Given the description of an element on the screen output the (x, y) to click on. 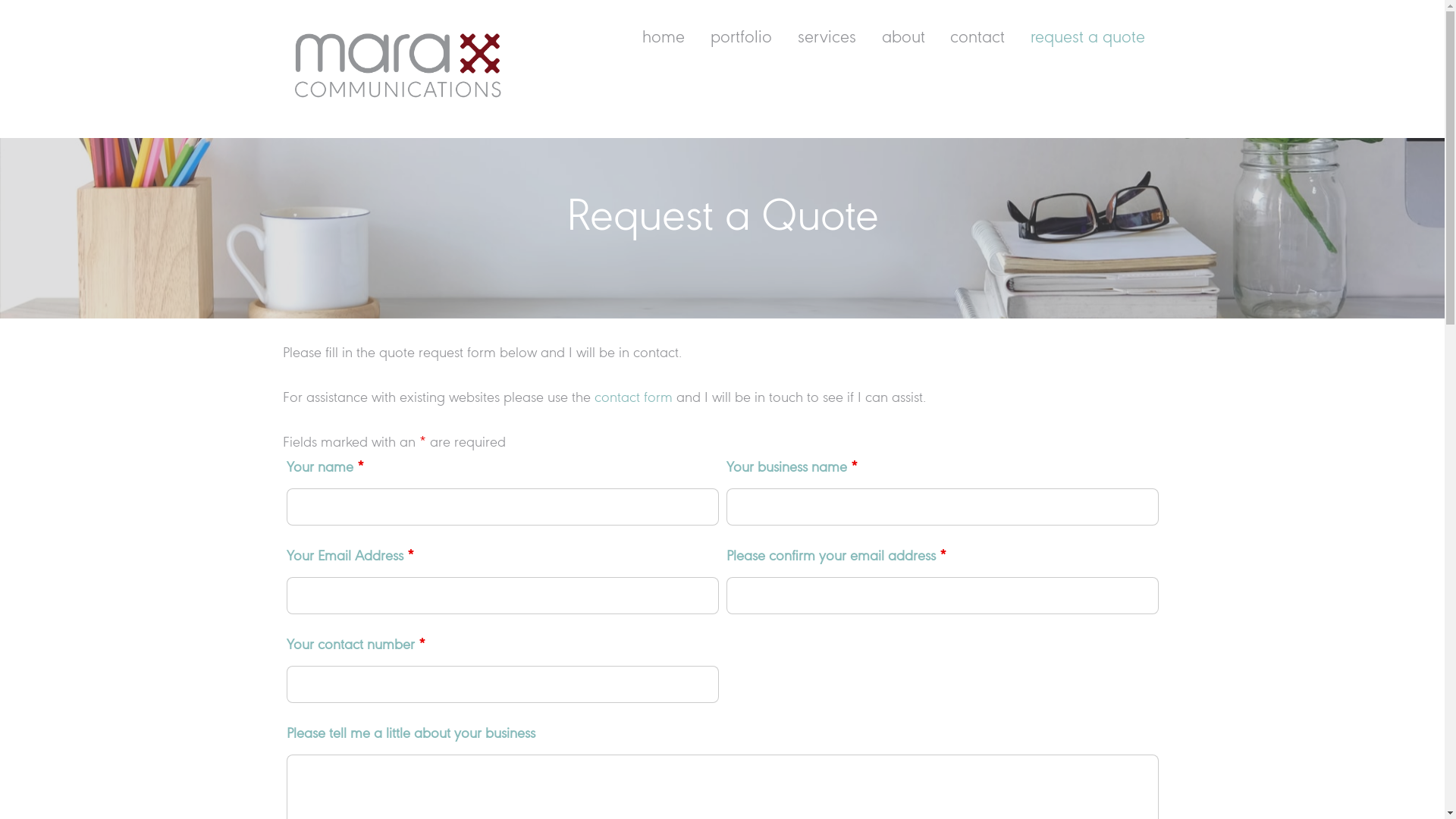
contact Element type: text (977, 38)
home Element type: text (663, 38)
services Element type: text (826, 38)
Mara logo RGB transparent SML Element type: hover (395, 63)
contact form Element type: text (633, 397)
request a quote Element type: text (1087, 38)
portfolio Element type: text (741, 38)
Mara Communications Element type: hover (395, 102)
about Element type: text (902, 38)
